Given the description of an element on the screen output the (x, y) to click on. 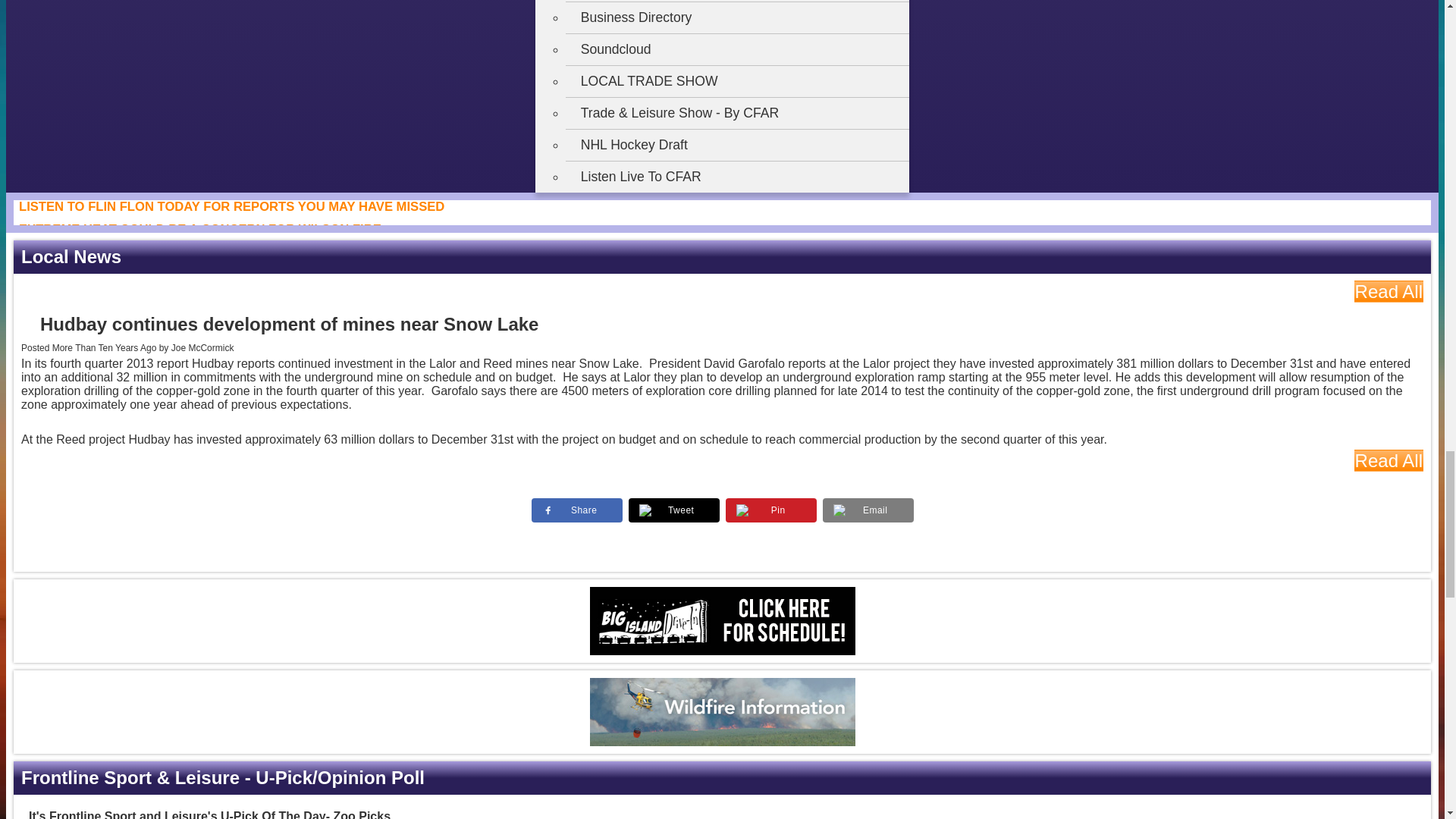
Read All (1388, 291)
